Given the description of an element on the screen output the (x, y) to click on. 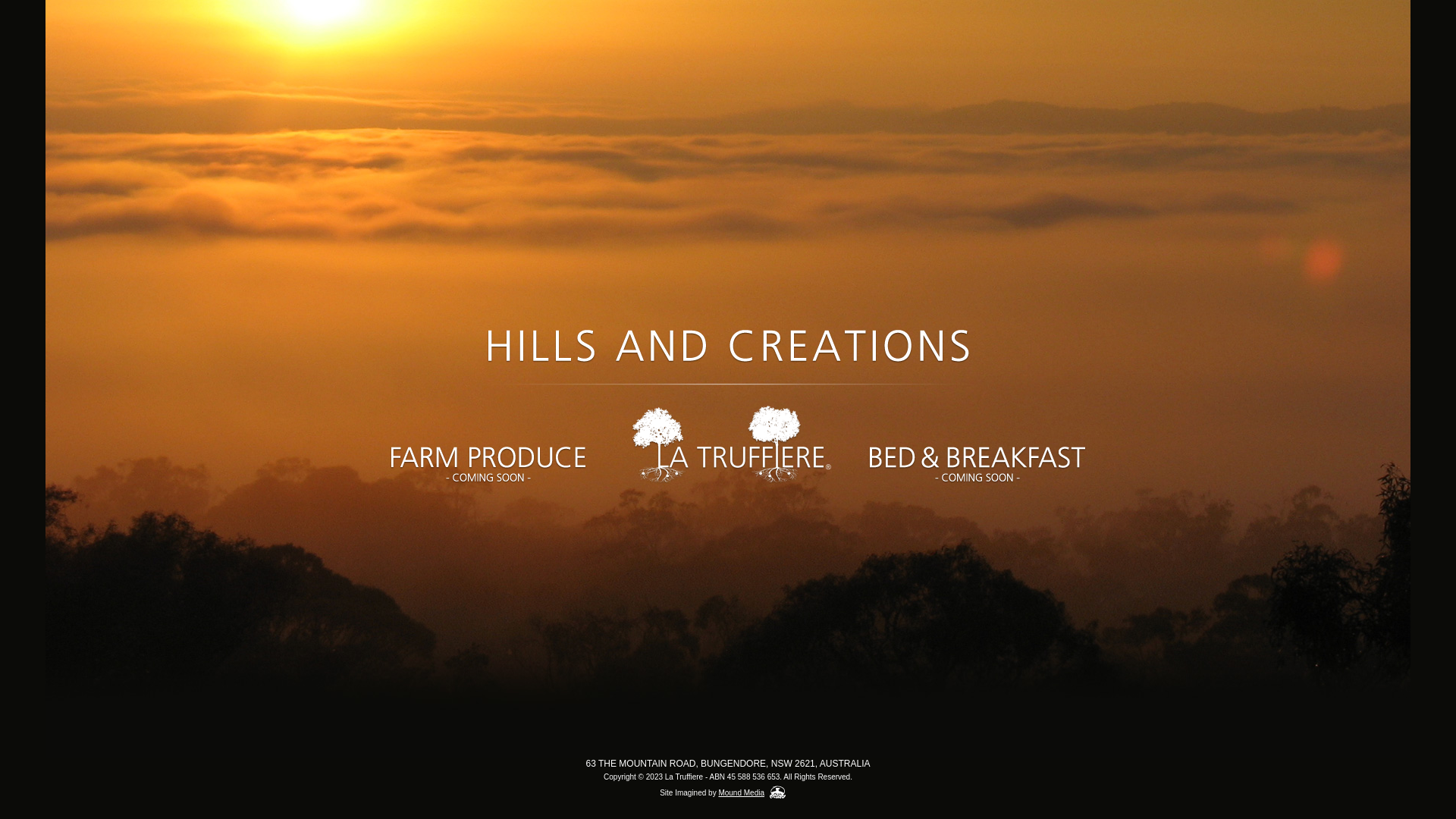
La Truffiere Element type: hover (728, 447)
Mound Media Element type: hover (777, 792)
Mound Media Element type: text (741, 792)
